Given the description of an element on the screen output the (x, y) to click on. 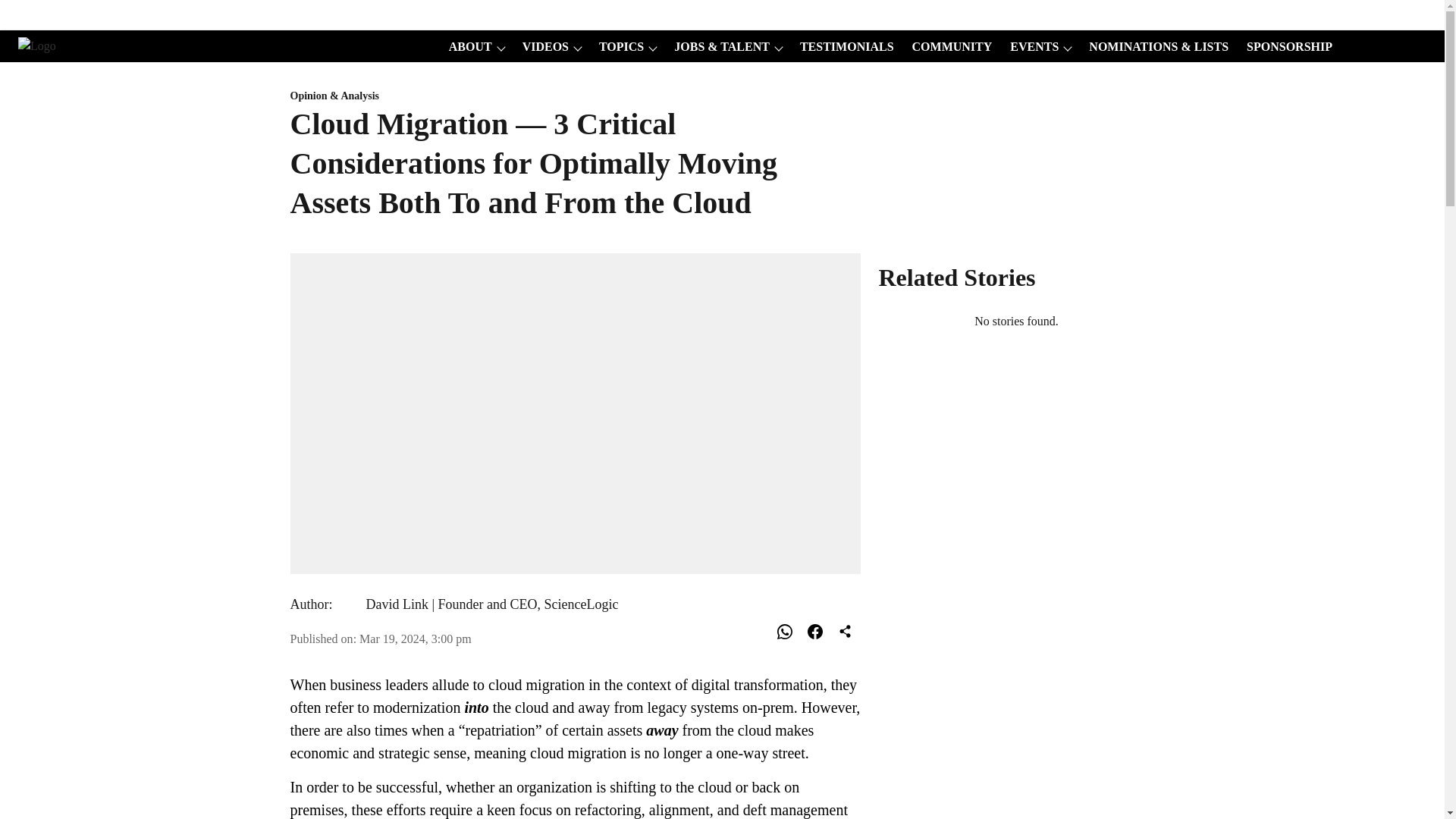
COMMUNITY (947, 46)
TESTIMONIALS (841, 46)
2024-03-19 15:00 (415, 638)
SPONSORSHIP (1284, 46)
